Given the description of an element on the screen output the (x, y) to click on. 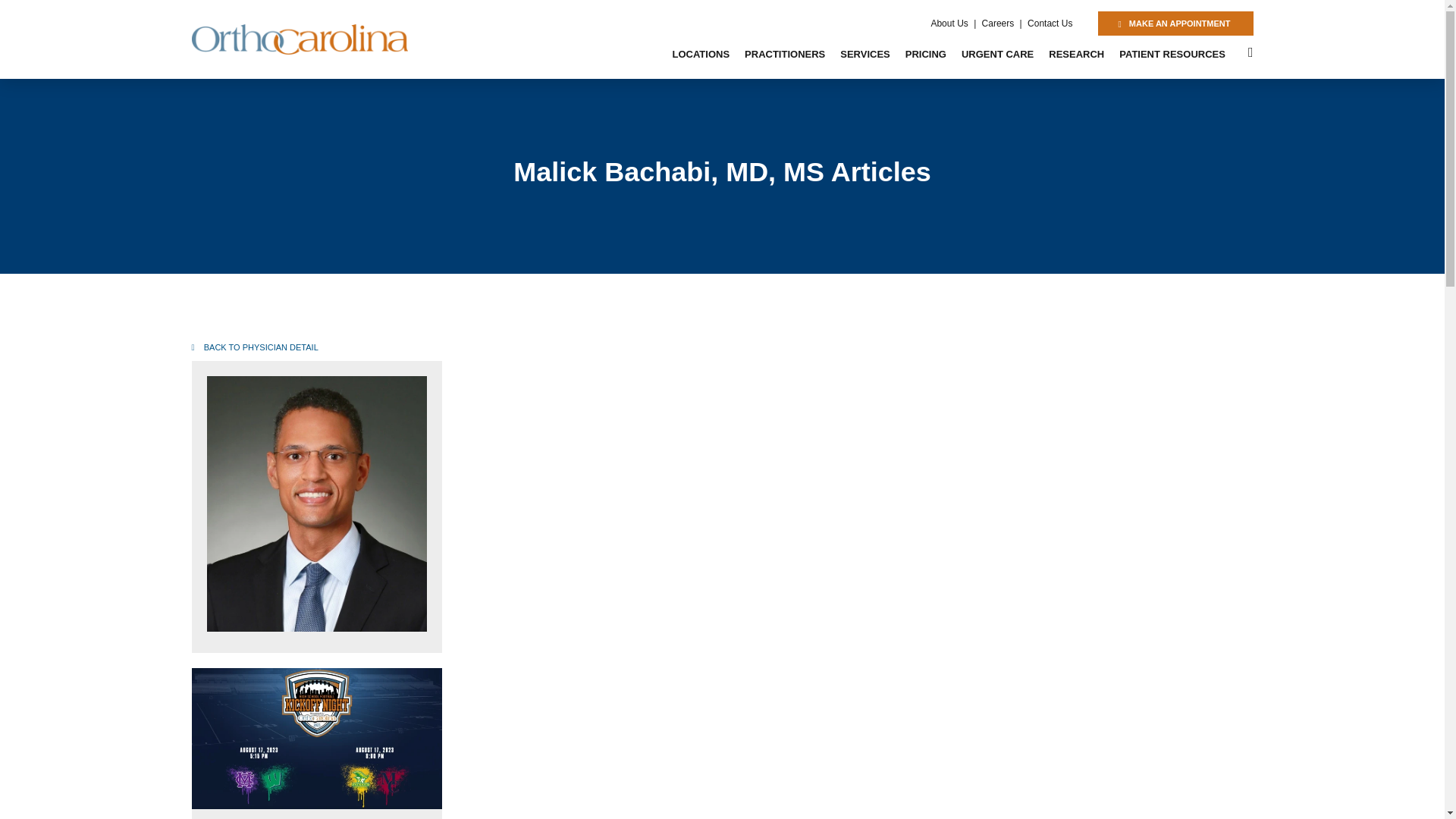
URGENT CARE (997, 54)
About Us (949, 23)
LOCATIONS (699, 54)
SERVICES (865, 54)
PATIENT RESOURCES (1172, 54)
  MAKE AN APPOINTMENT (1174, 23)
PRICING (925, 54)
PRACTITIONERS (784, 54)
Contact Us (1050, 23)
RESEARCH (1076, 54)
